Given the description of an element on the screen output the (x, y) to click on. 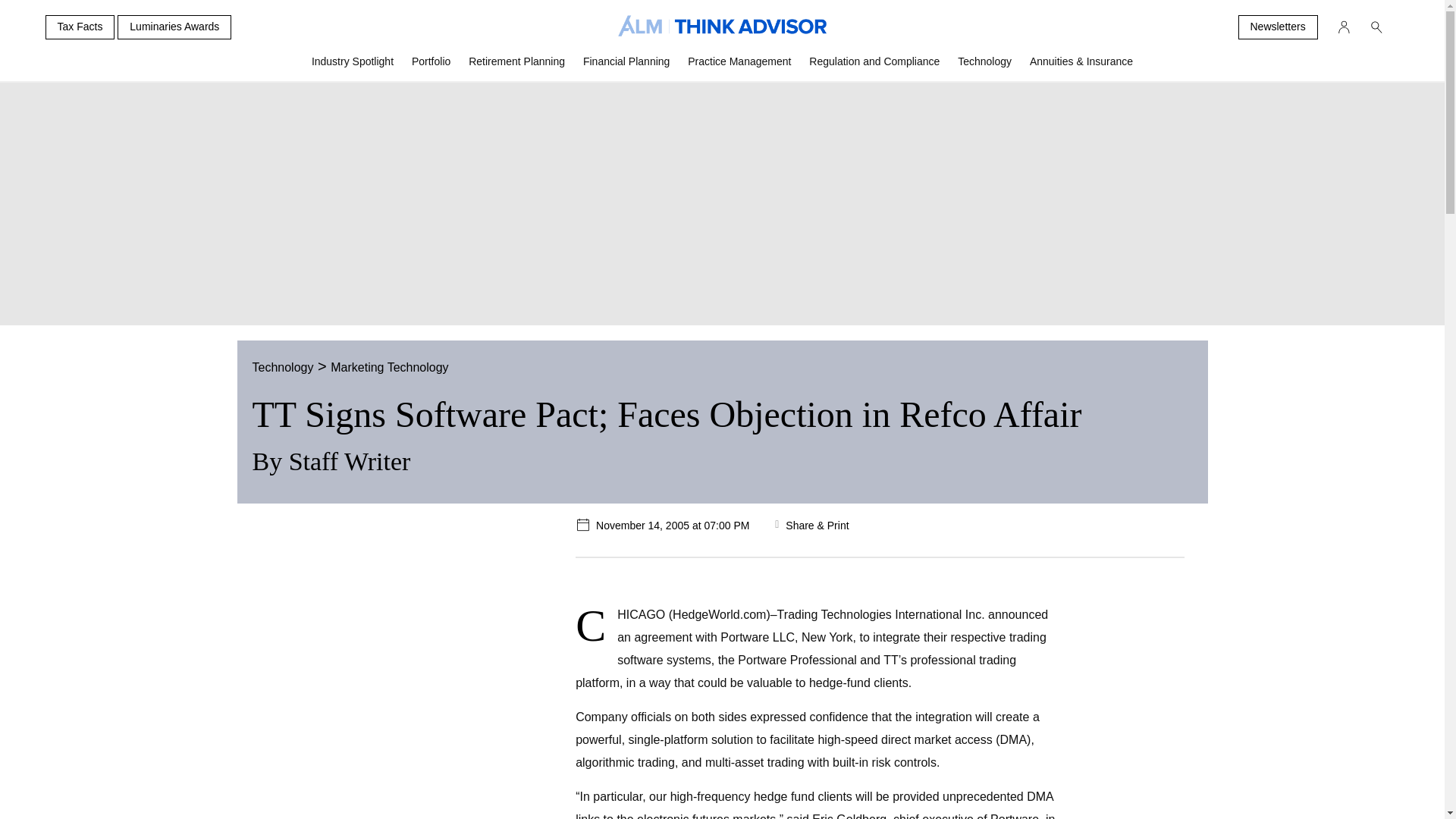
Luminaries Awards (174, 27)
Tax Facts (80, 27)
Newsletters (1277, 27)
Industry Spotlight (352, 67)
